Given the description of an element on the screen output the (x, y) to click on. 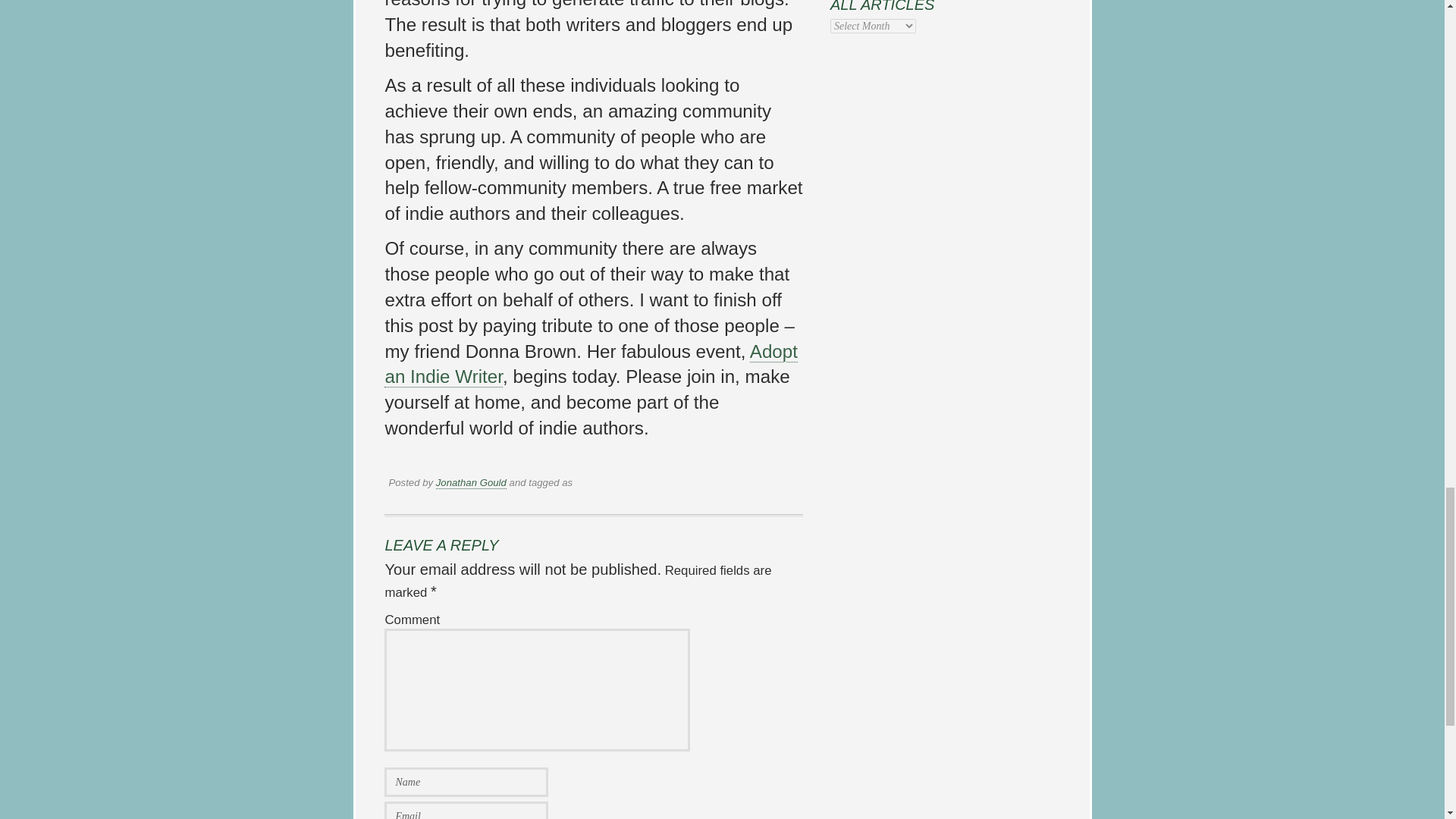
Adopt an Indie Writer (590, 364)
Posts by Jonathan Gould (470, 482)
Name (466, 781)
Jonathan Gould (470, 482)
Email (466, 810)
